Given the description of an element on the screen output the (x, y) to click on. 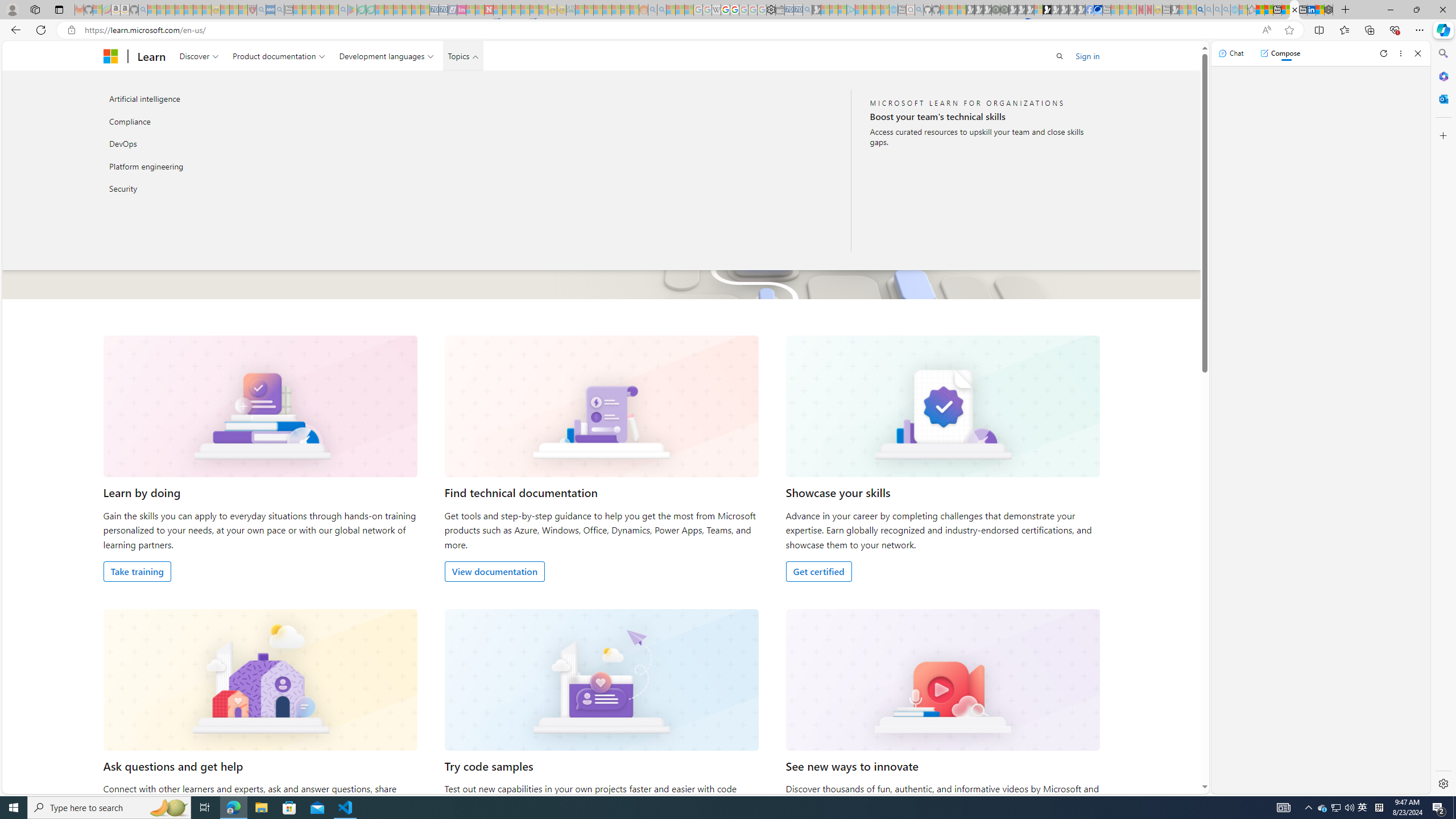
Compose (1279, 52)
View documentation (494, 571)
Sign in to your account - Sleeping (1038, 9)
